Given the description of an element on the screen output the (x, y) to click on. 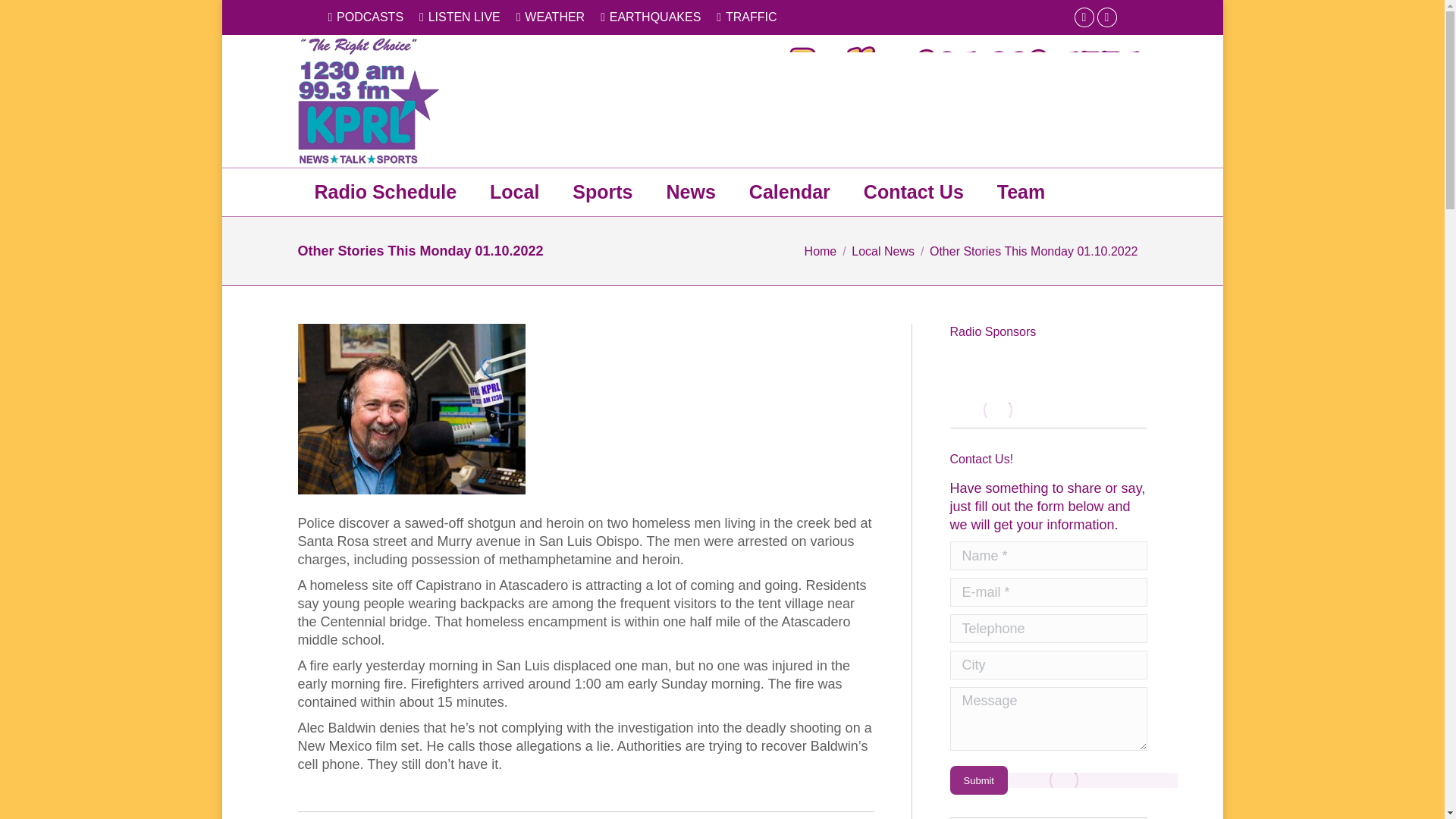
submit (1044, 781)
Dignified Hope Care (1005, 548)
Facebook page opens in new window (1084, 17)
WEATHER (550, 17)
EARTHQUAKES (649, 17)
Facebook page opens in new window (1084, 17)
X page opens in new window (1106, 17)
Local (514, 192)
LISTEN LIVE (459, 17)
Go! (23, 15)
Local News (882, 250)
Home (821, 250)
Radio Schedule (385, 192)
PODCASTS (365, 17)
Contact Us (913, 192)
